Given the description of an element on the screen output the (x, y) to click on. 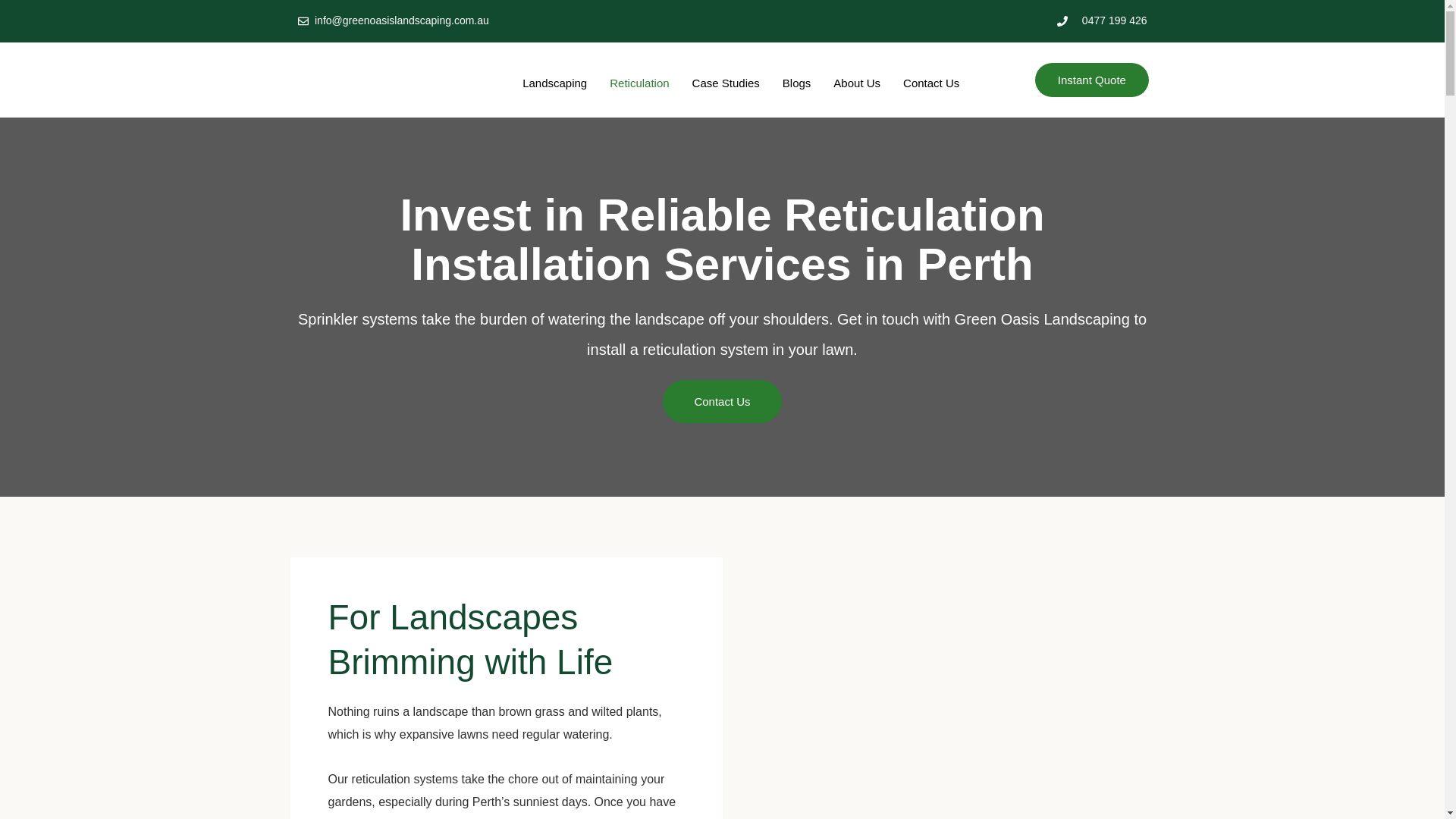
Contact Us (721, 401)
Reticulation (638, 83)
0477 199 426 (938, 21)
Blogs (796, 83)
About Us (856, 83)
Contact Us (931, 83)
Case Studies (726, 83)
Landscaping (554, 83)
Instant Quote (1091, 80)
